Given the description of an element on the screen output the (x, y) to click on. 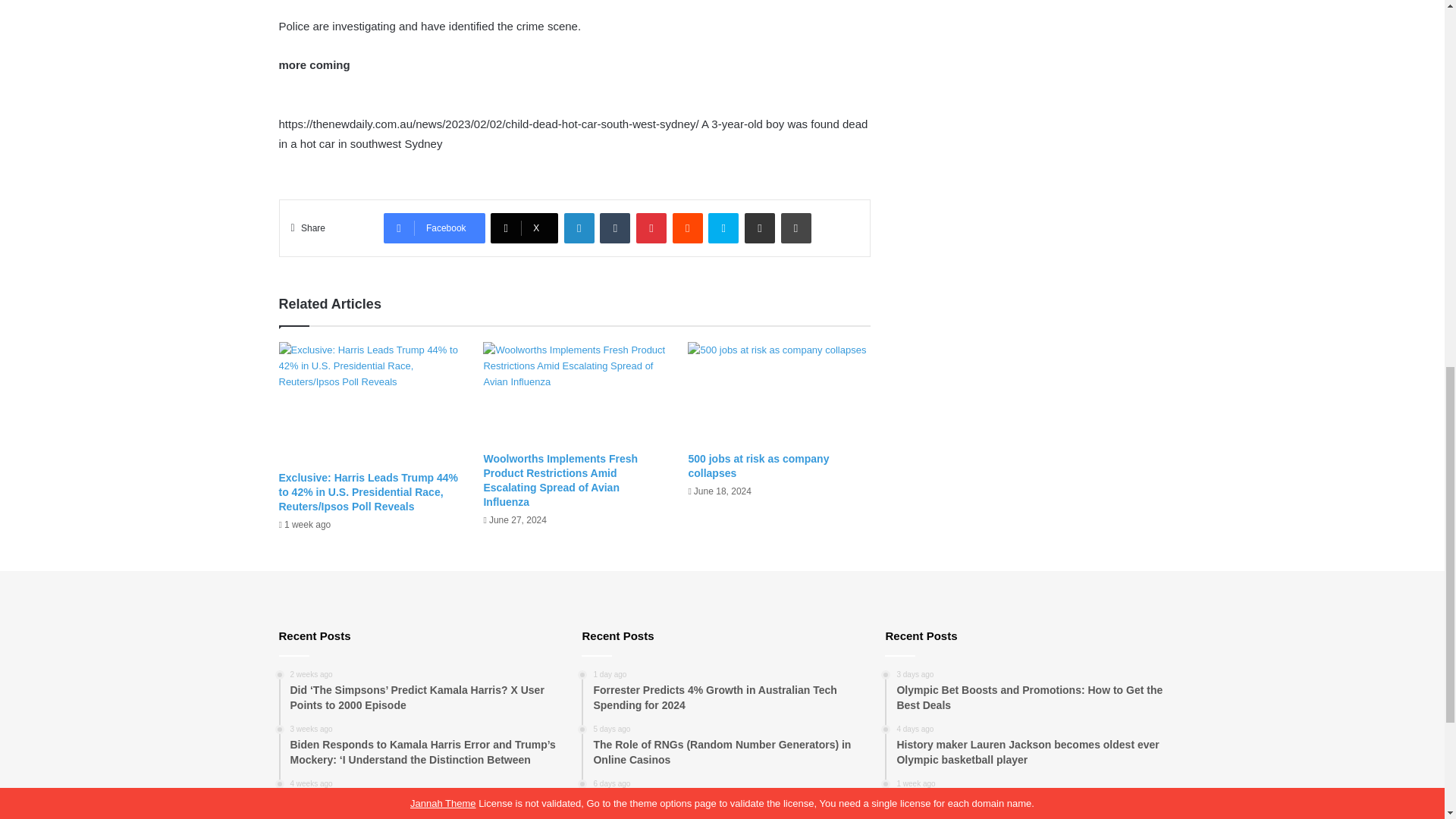
Skype (722, 227)
Reddit (687, 227)
X (523, 227)
LinkedIn (579, 227)
Pinterest (651, 227)
Tumblr (614, 227)
Pinterest (651, 227)
Facebook (434, 227)
Facebook (434, 227)
Tumblr (614, 227)
LinkedIn (579, 227)
Reddit (687, 227)
Skype (722, 227)
X (523, 227)
